Given the description of an element on the screen output the (x, y) to click on. 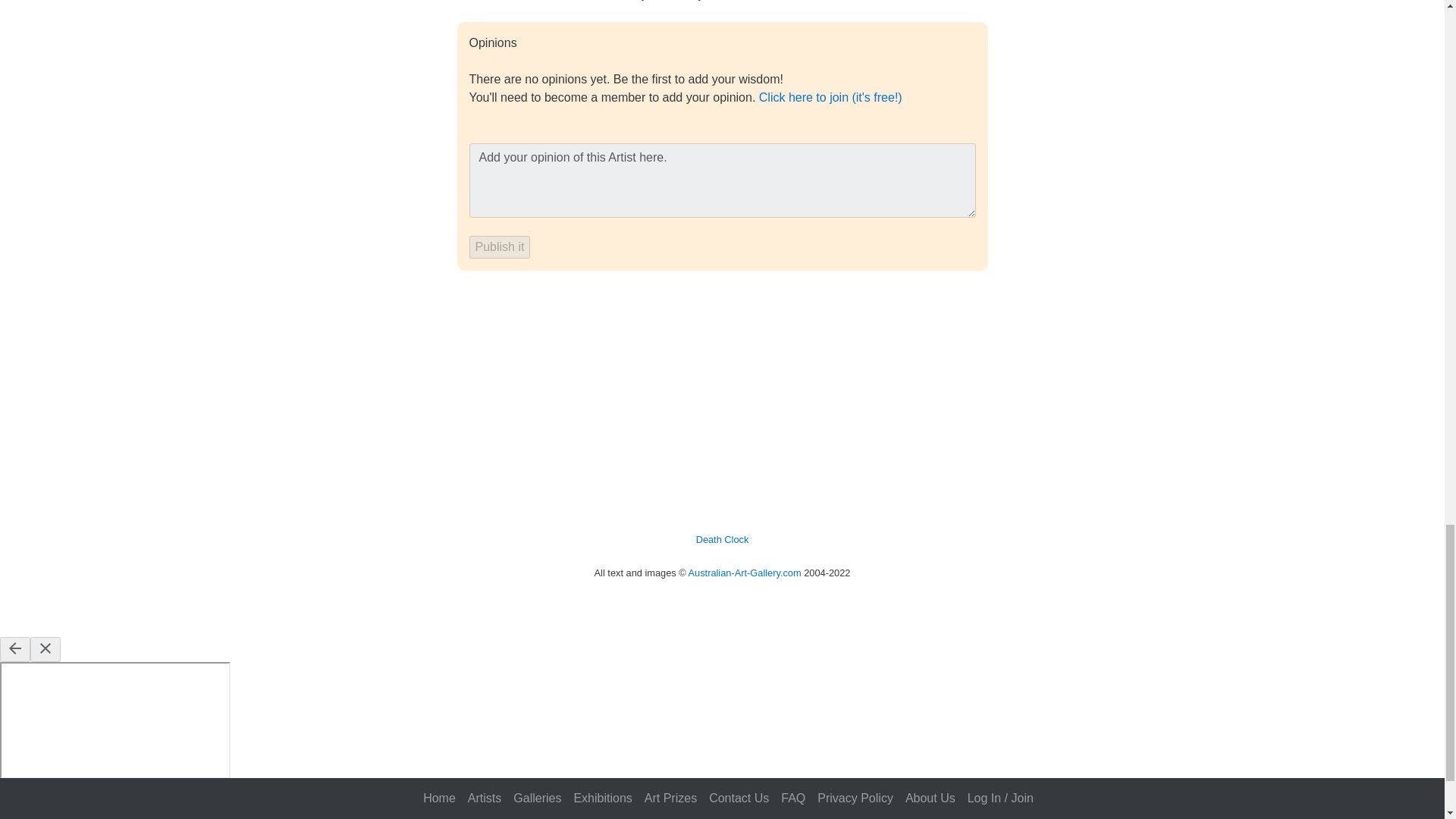
Australian-Art-Gallery.com (745, 572)
Death Clock (722, 539)
Publish it (498, 246)
Publish it (498, 246)
